Given the description of an element on the screen output the (x, y) to click on. 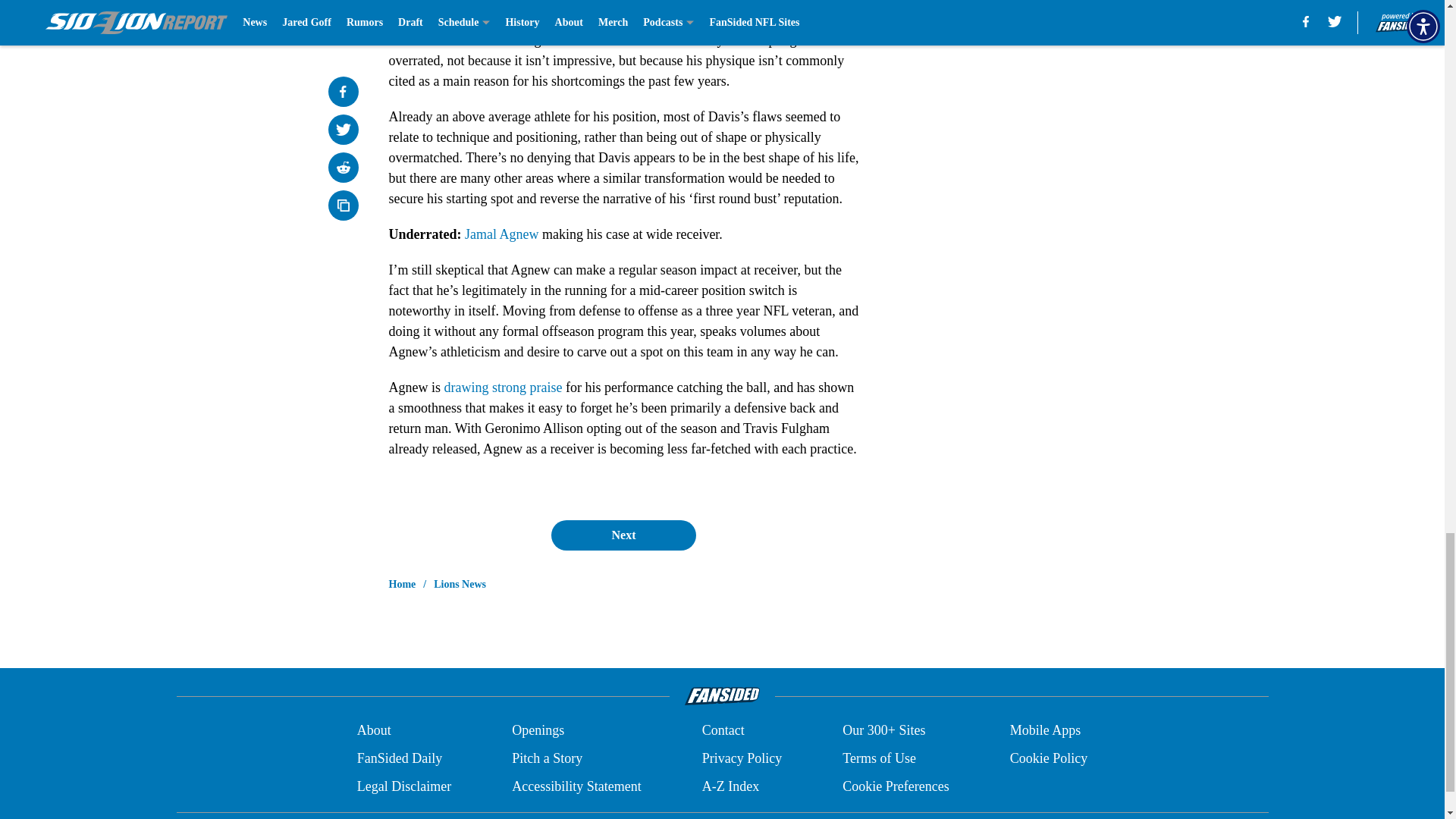
drawing strong praise (503, 387)
About (373, 730)
Lions News (459, 584)
Home (401, 584)
Contact (722, 730)
Openings (538, 730)
Jamal Agnew (501, 233)
Next (622, 535)
